Given the description of an element on the screen output the (x, y) to click on. 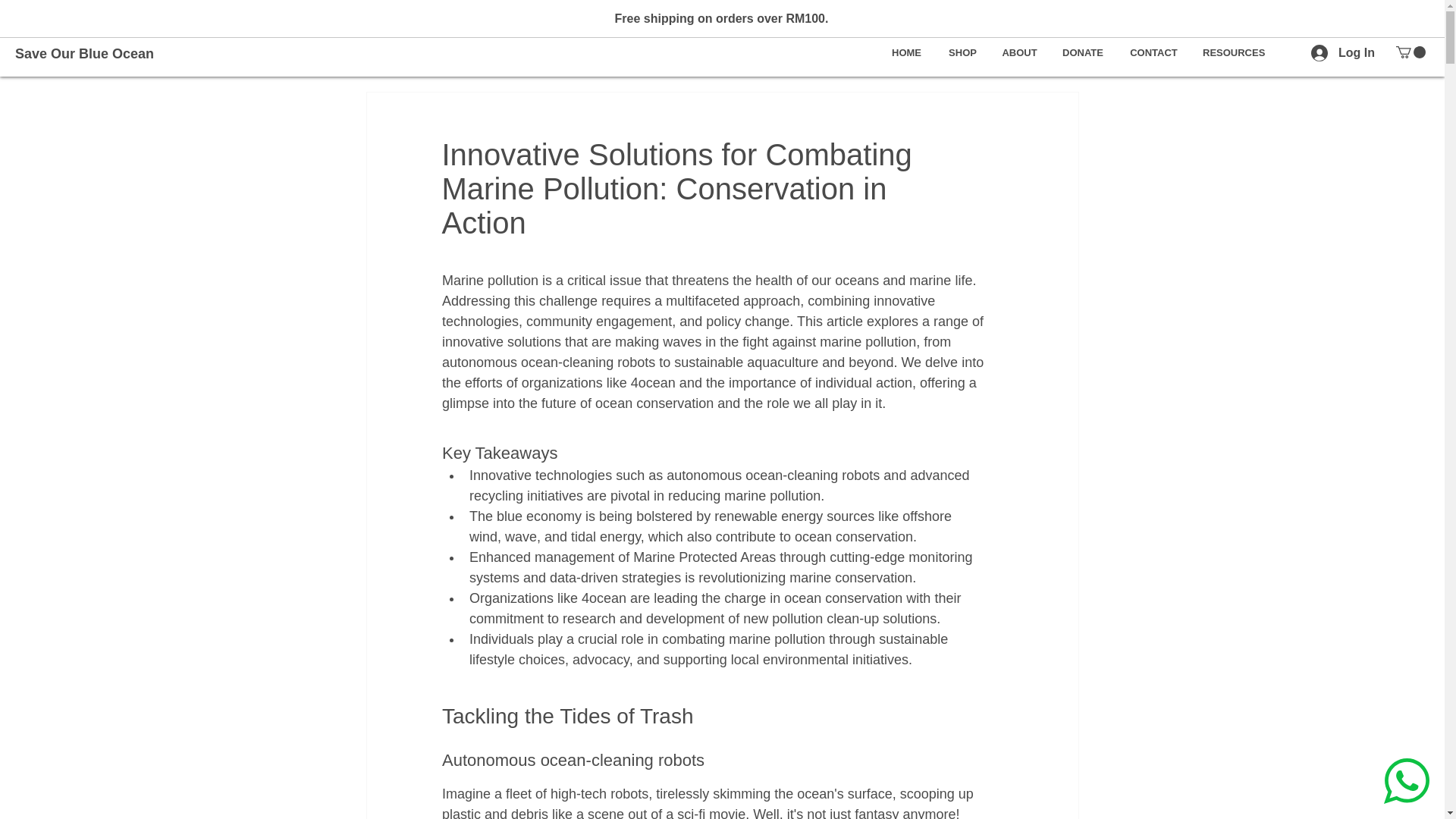
CONTACT (1153, 52)
SHOP (963, 52)
ABOUT (1019, 52)
Log In (1343, 53)
Save Our Blue Ocean (100, 54)
DONATE (1082, 52)
HOME (906, 52)
